Given the description of an element on the screen output the (x, y) to click on. 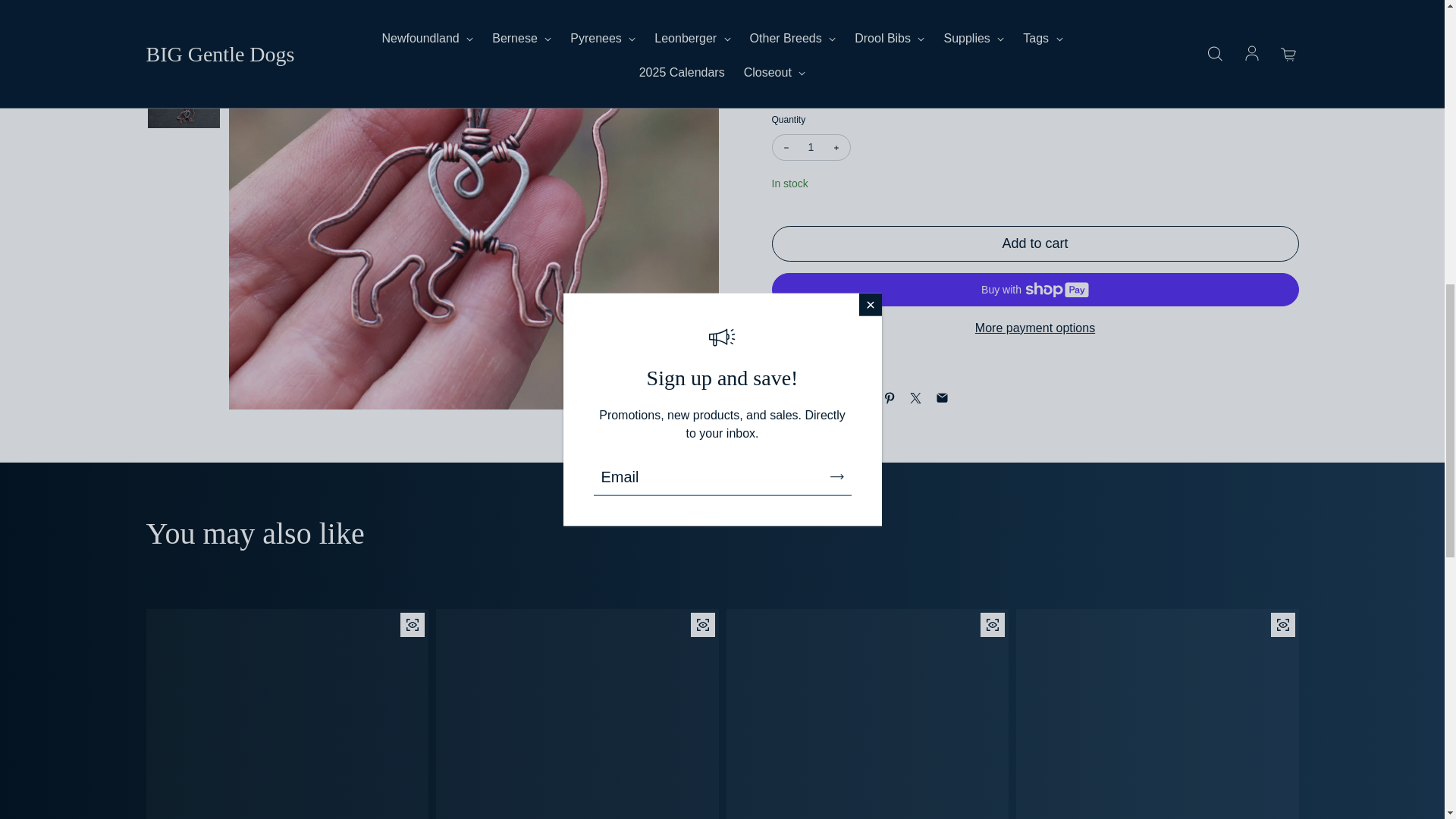
1 (810, 147)
